Given the description of an element on the screen output the (x, y) to click on. 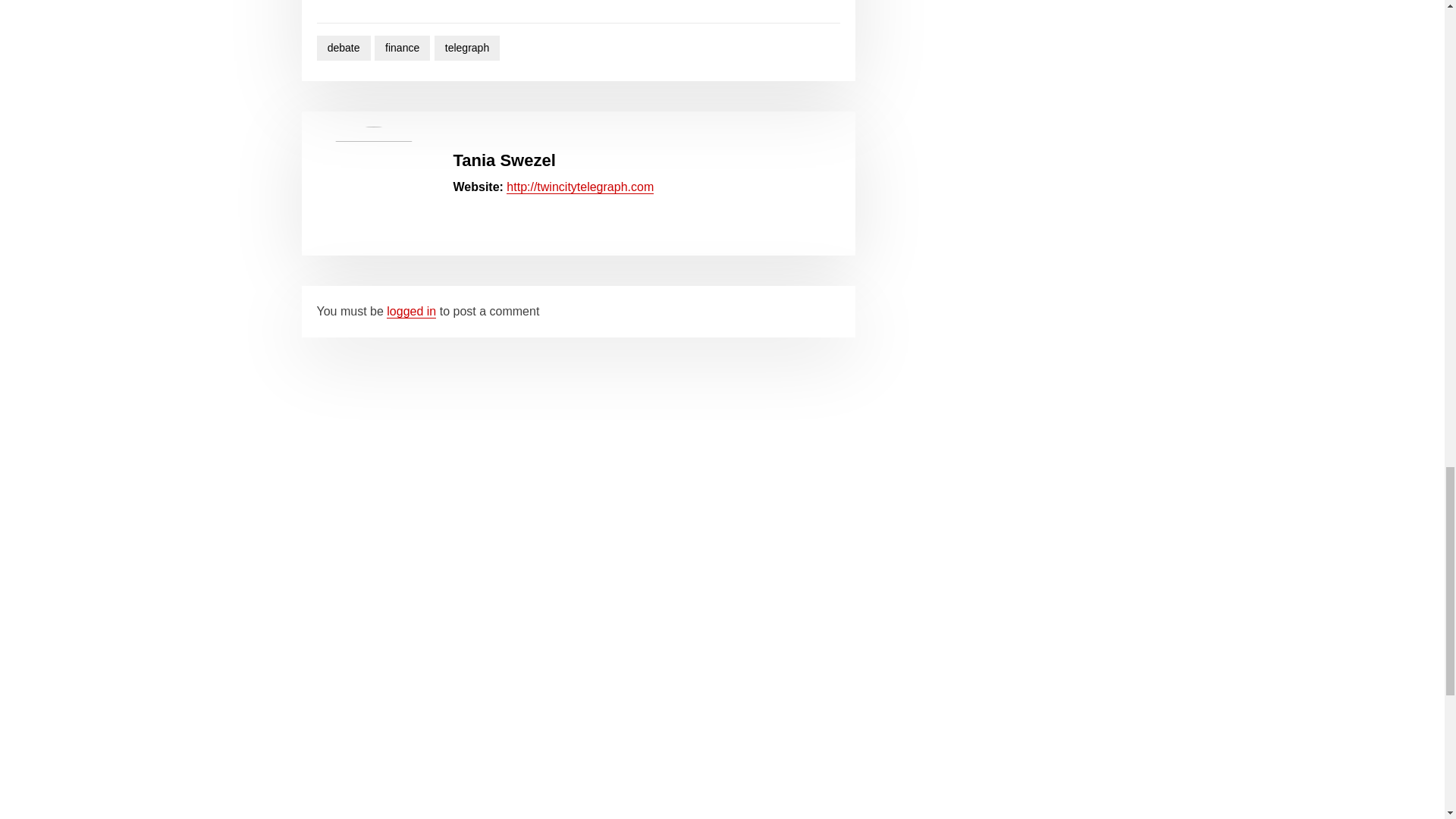
finance (402, 48)
Tania Swezel (504, 159)
telegraph (466, 48)
debate (344, 48)
logged in (411, 310)
